Given the description of an element on the screen output the (x, y) to click on. 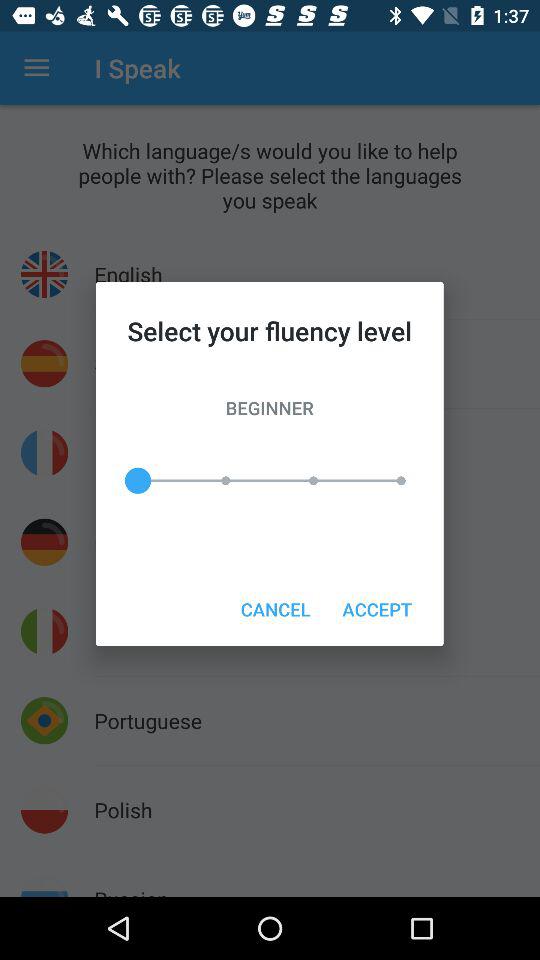
open item to the right of the cancel icon (376, 608)
